Given the description of an element on the screen output the (x, y) to click on. 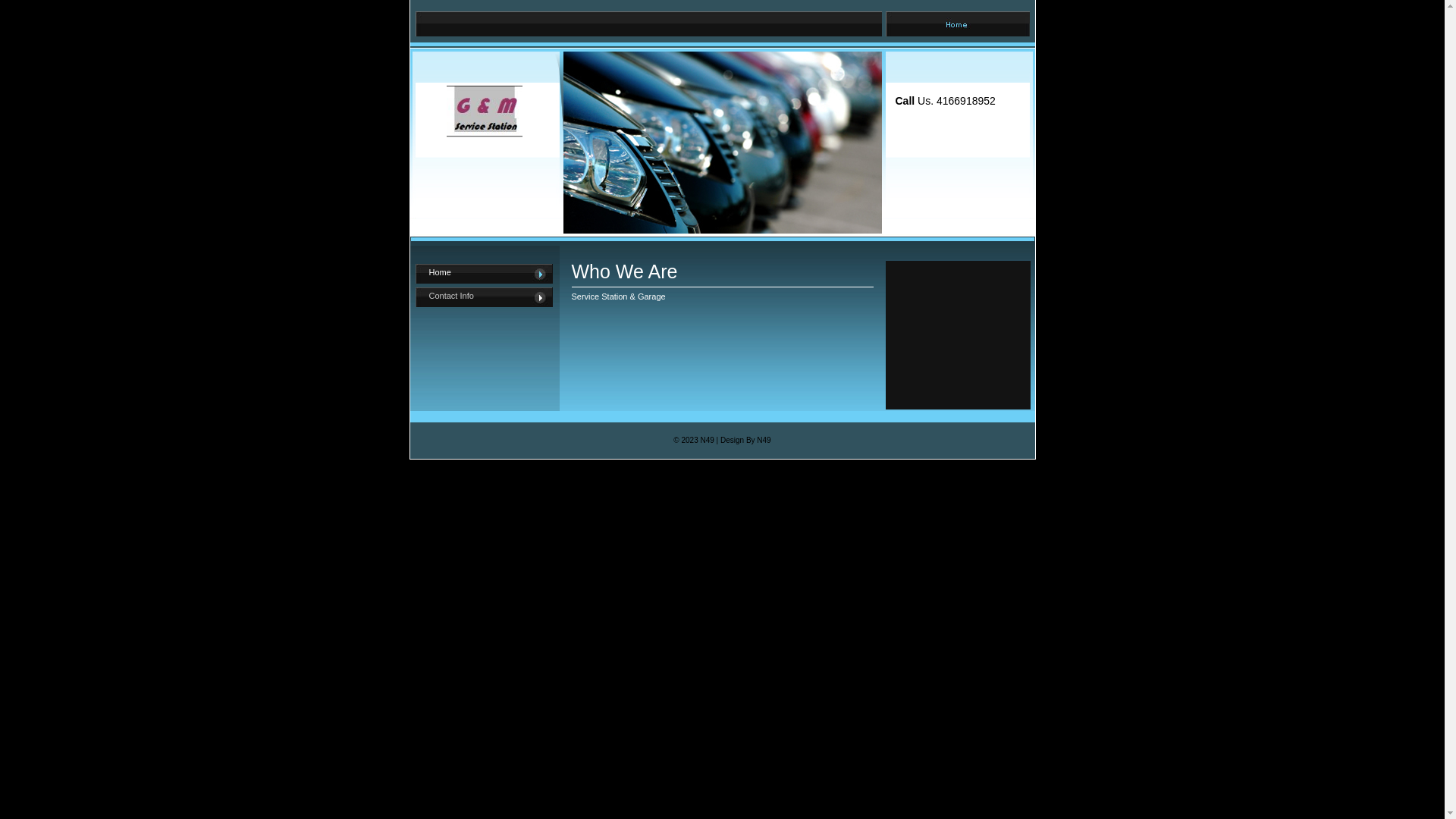
Home Element type: text (483, 273)
Contact Info Element type: text (483, 297)
Design By N49 Element type: text (745, 440)
